Given the description of an element on the screen output the (x, y) to click on. 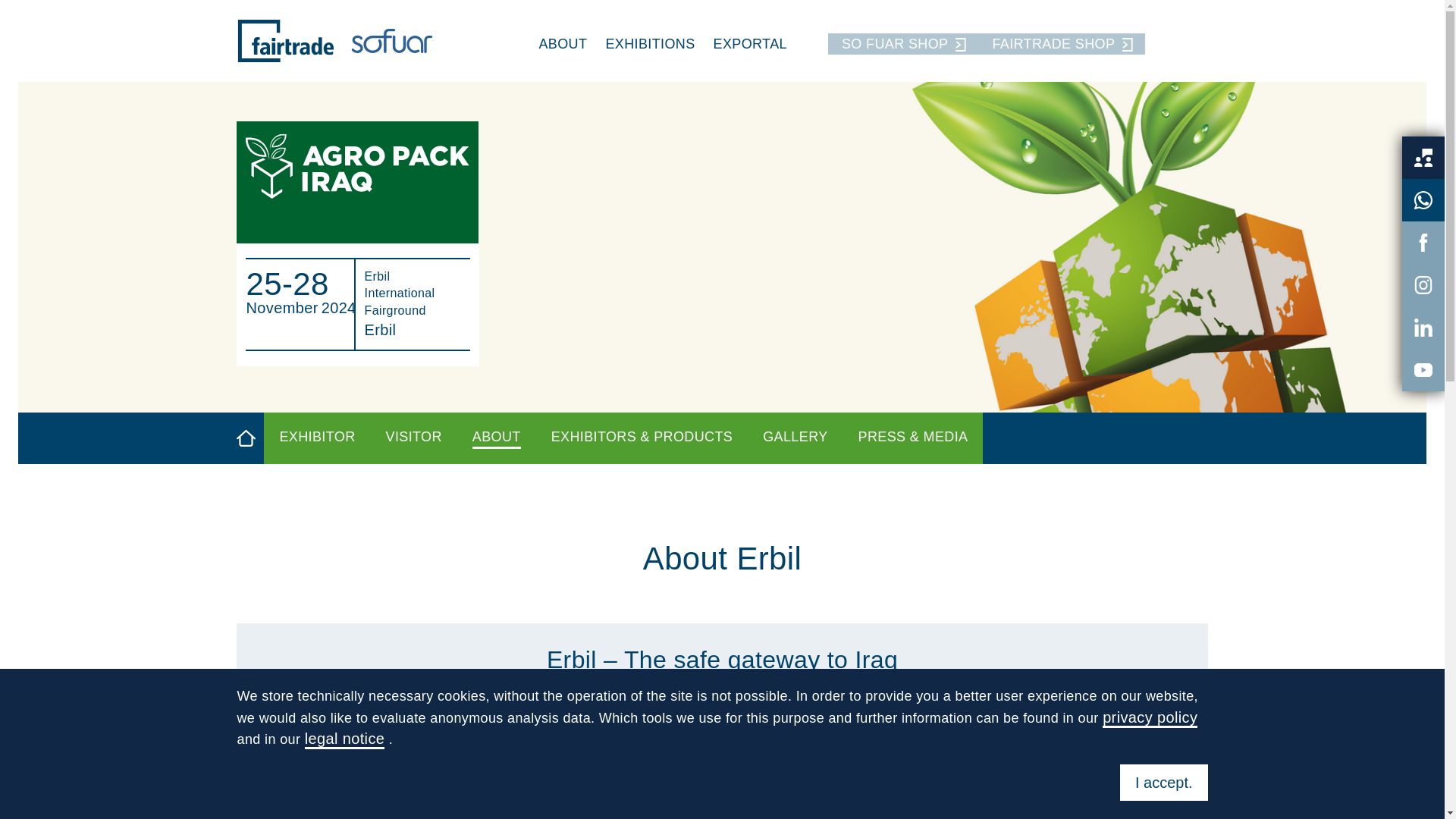
VISITOR (413, 437)
Agro Pack Iraq (357, 182)
Visitor (413, 437)
Gallery (794, 437)
About (496, 437)
ABOUT (496, 437)
Exhibitor (317, 437)
EXHIBITOR (317, 437)
GALLERY (794, 437)
